Given the description of an element on the screen output the (x, y) to click on. 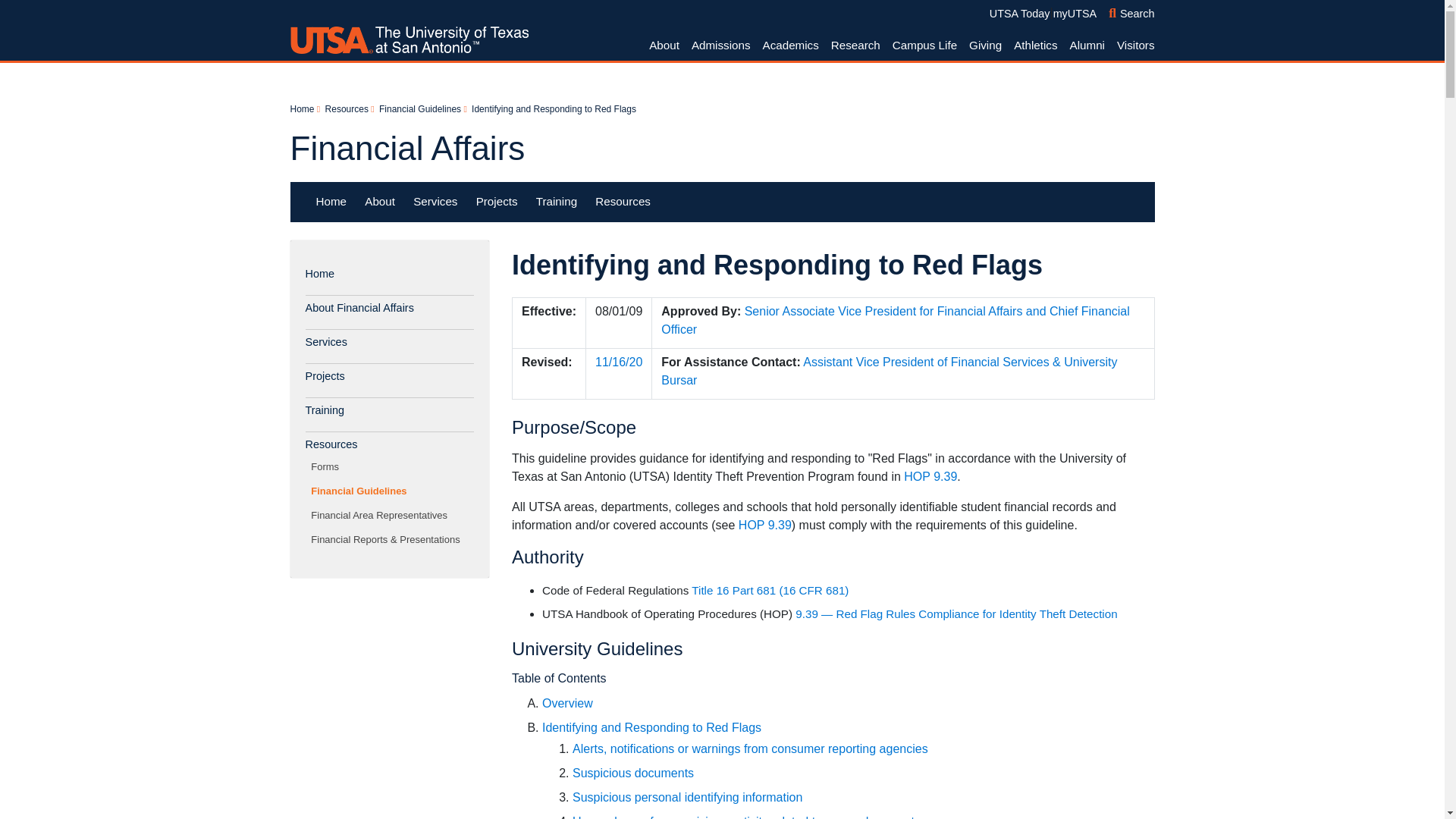
Financial Guidelines (420, 109)
Campus Life (722, 201)
Services (924, 45)
Search (435, 201)
Resources (1131, 12)
Financial Affairs (346, 109)
About (406, 148)
